Given the description of an element on the screen output the (x, y) to click on. 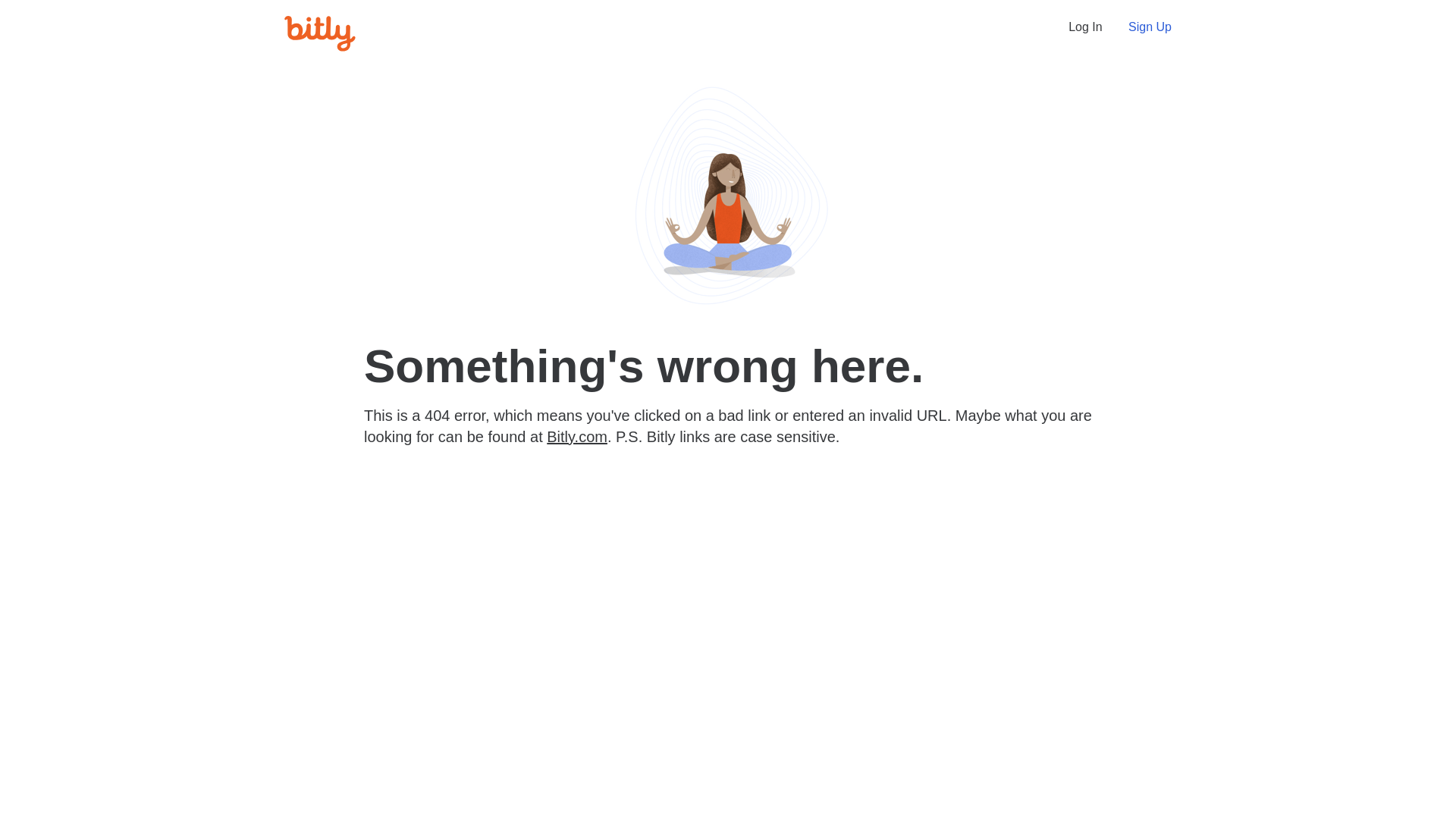
Bitly.com Element type: text (576, 436)
Log In Element type: text (1084, 26)
Sign Up Element type: text (1149, 26)
